Given the description of an element on the screen output the (x, y) to click on. 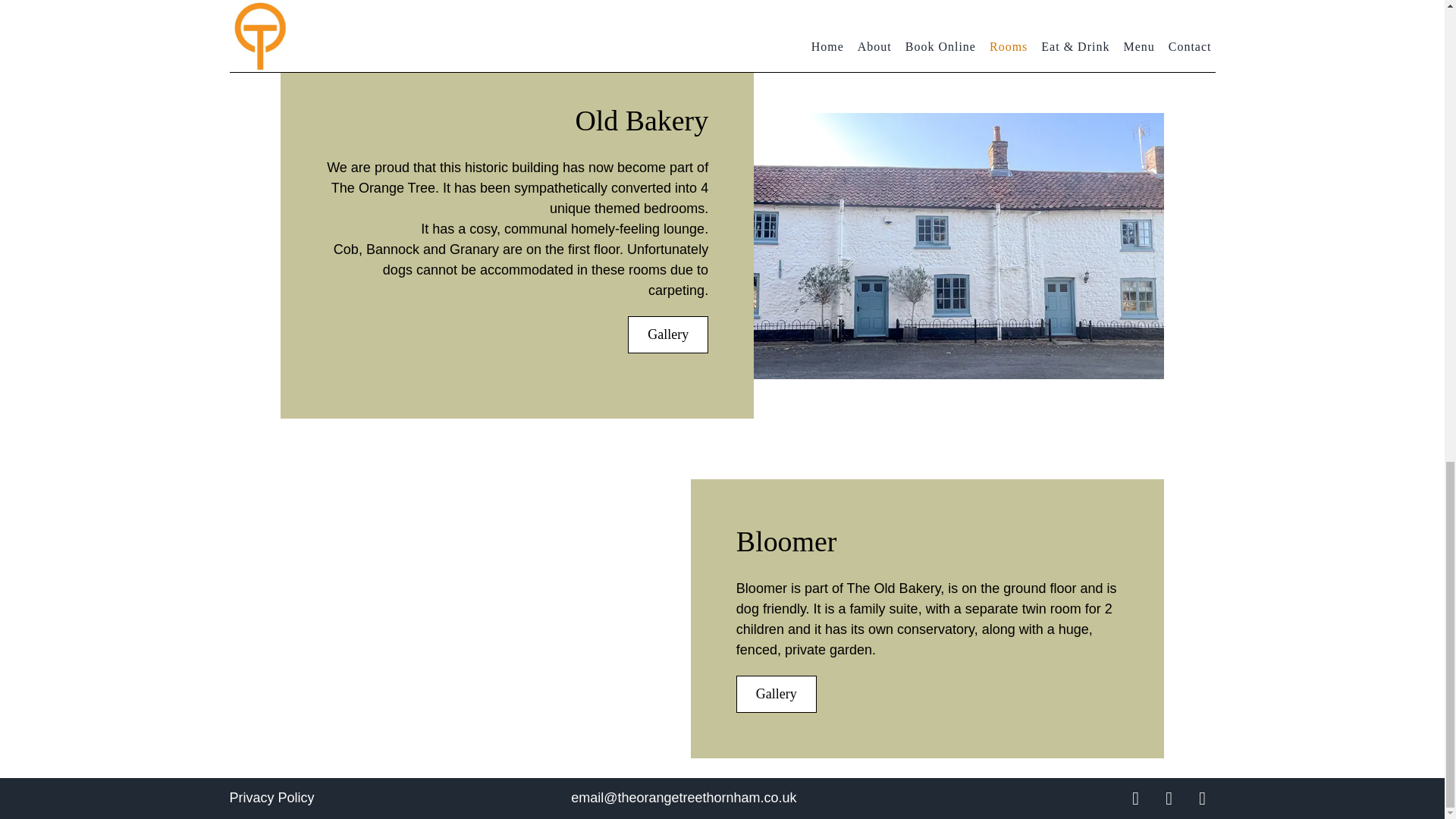
Gallery (776, 693)
Gallery (667, 334)
